Given the description of an element on the screen output the (x, y) to click on. 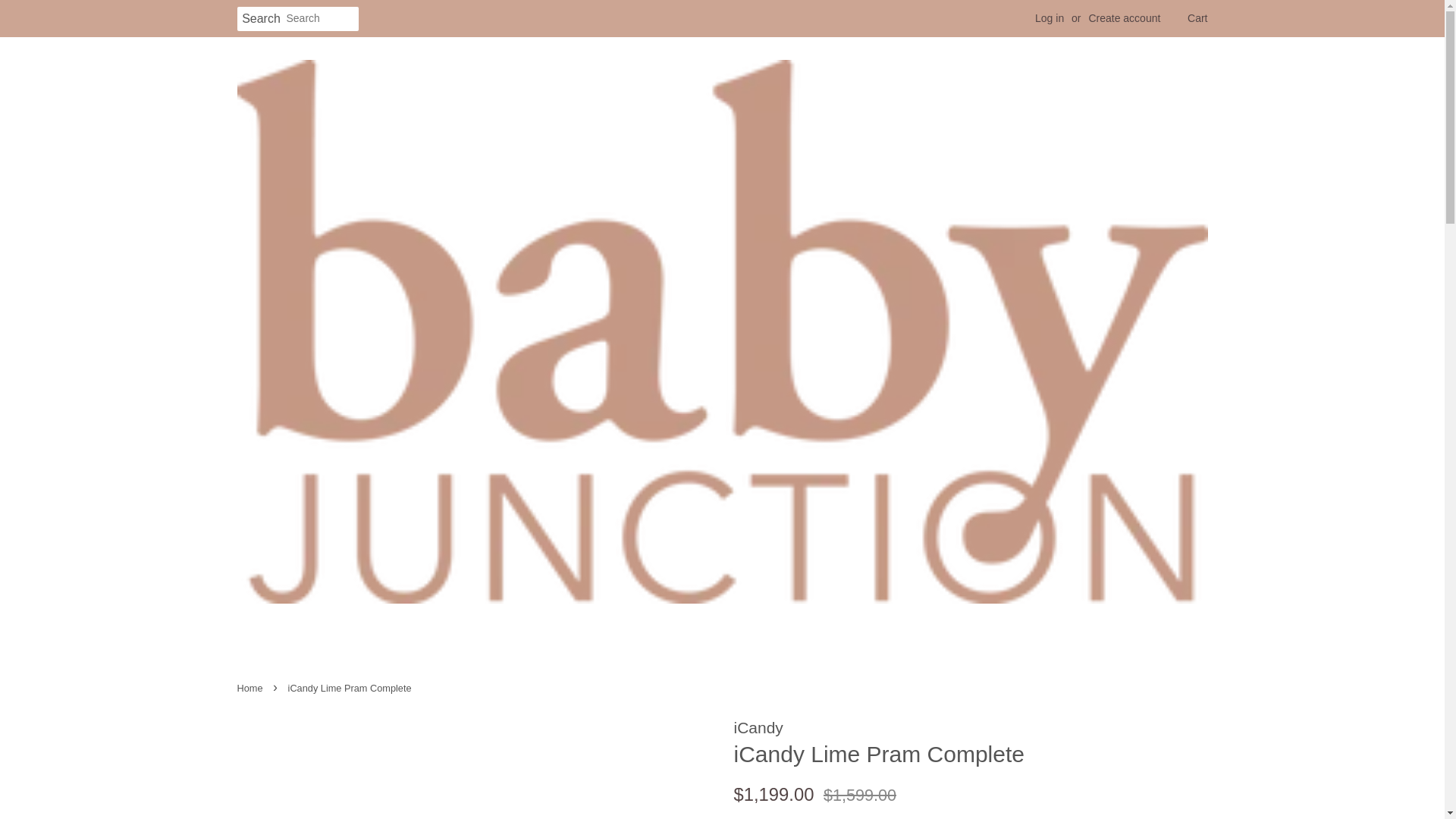
Log in (1049, 18)
Back to the frontpage (250, 687)
Create account (1123, 18)
Cart (1197, 18)
Home (250, 687)
Search (260, 18)
